Given the description of an element on the screen output the (x, y) to click on. 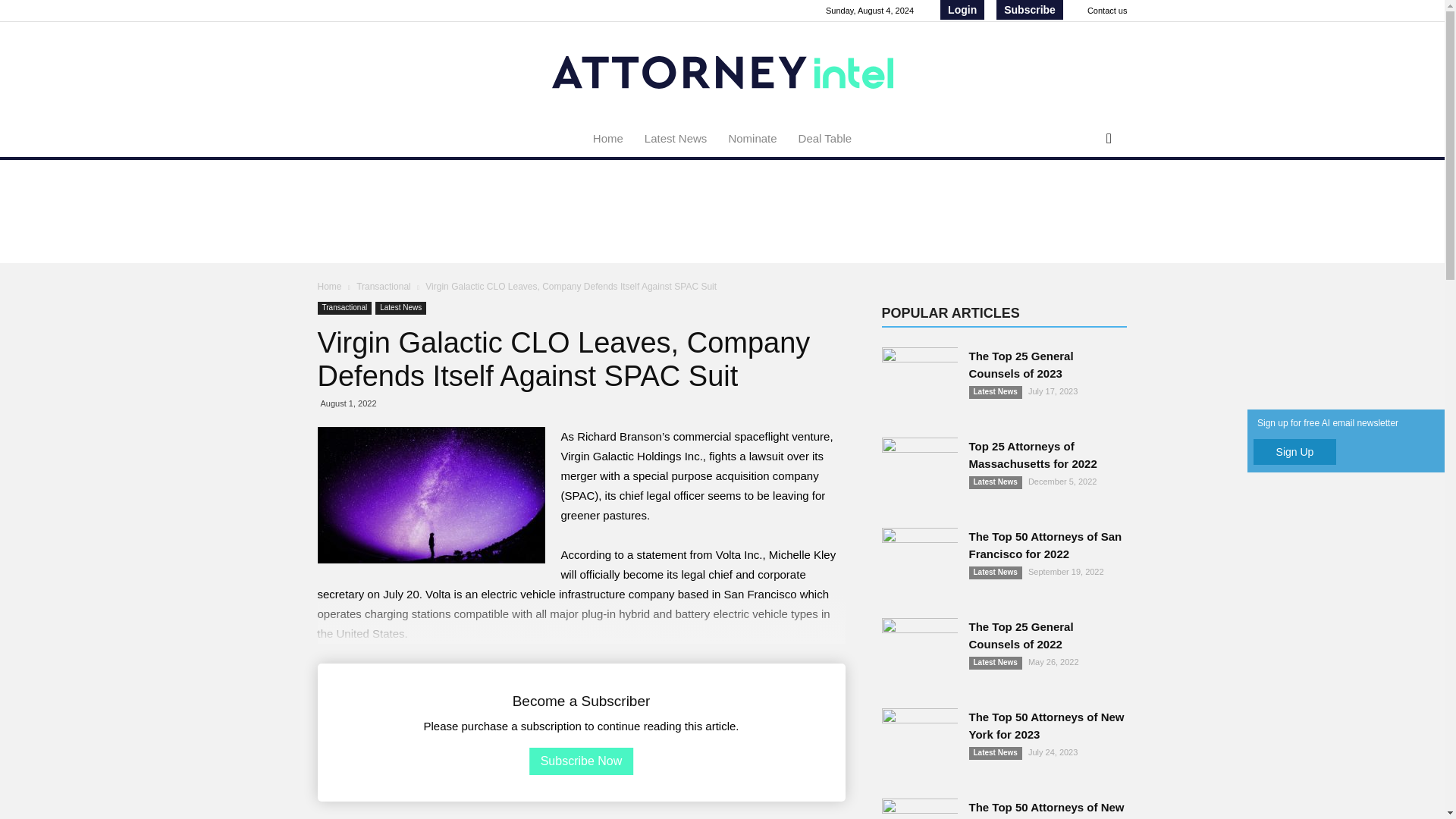
Login (962, 9)
Subscribe (1028, 9)
Nominate (752, 138)
Michael Colglazier (430, 494)
Transactional (384, 286)
Transactional (344, 308)
Deal Table (825, 138)
Sign Up (1294, 451)
Latest News (675, 138)
Latest News (400, 308)
